Given the description of an element on the screen output the (x, y) to click on. 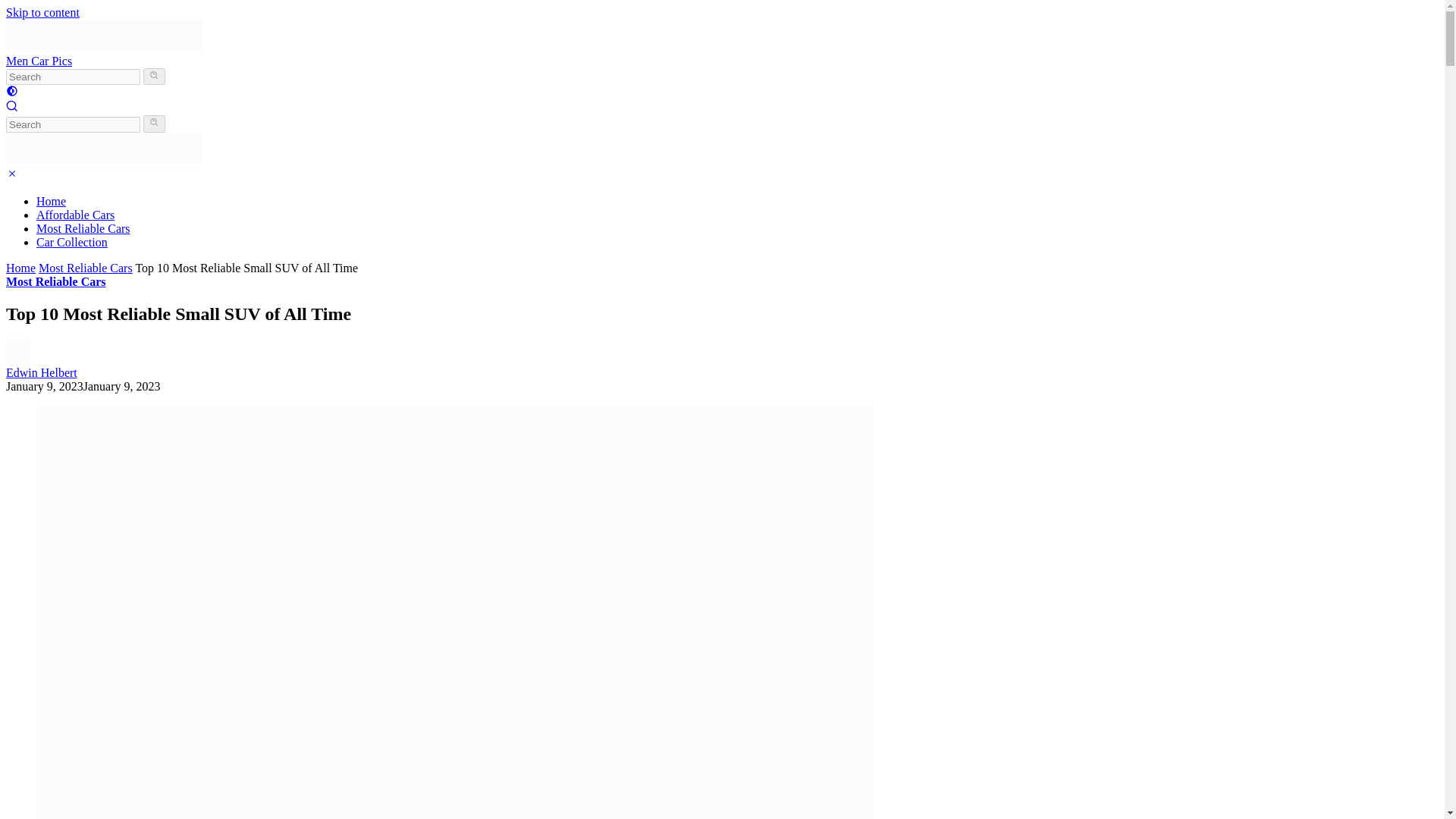
Dark Mode (11, 92)
Most Reliable Cars (83, 228)
Affordable Cars (75, 214)
Car Collection (71, 241)
Skip to content (42, 11)
Permalink to: Edwin Helbert (17, 358)
Men Car Pics (38, 60)
Home (19, 267)
Most Reliable Cars (85, 267)
Edwin Helbert (41, 372)
Mencarpics (103, 160)
Mencarpics (103, 47)
Most Reliable Cars (55, 281)
Edwin Helbert (41, 372)
Home (50, 201)
